Given the description of an element on the screen output the (x, y) to click on. 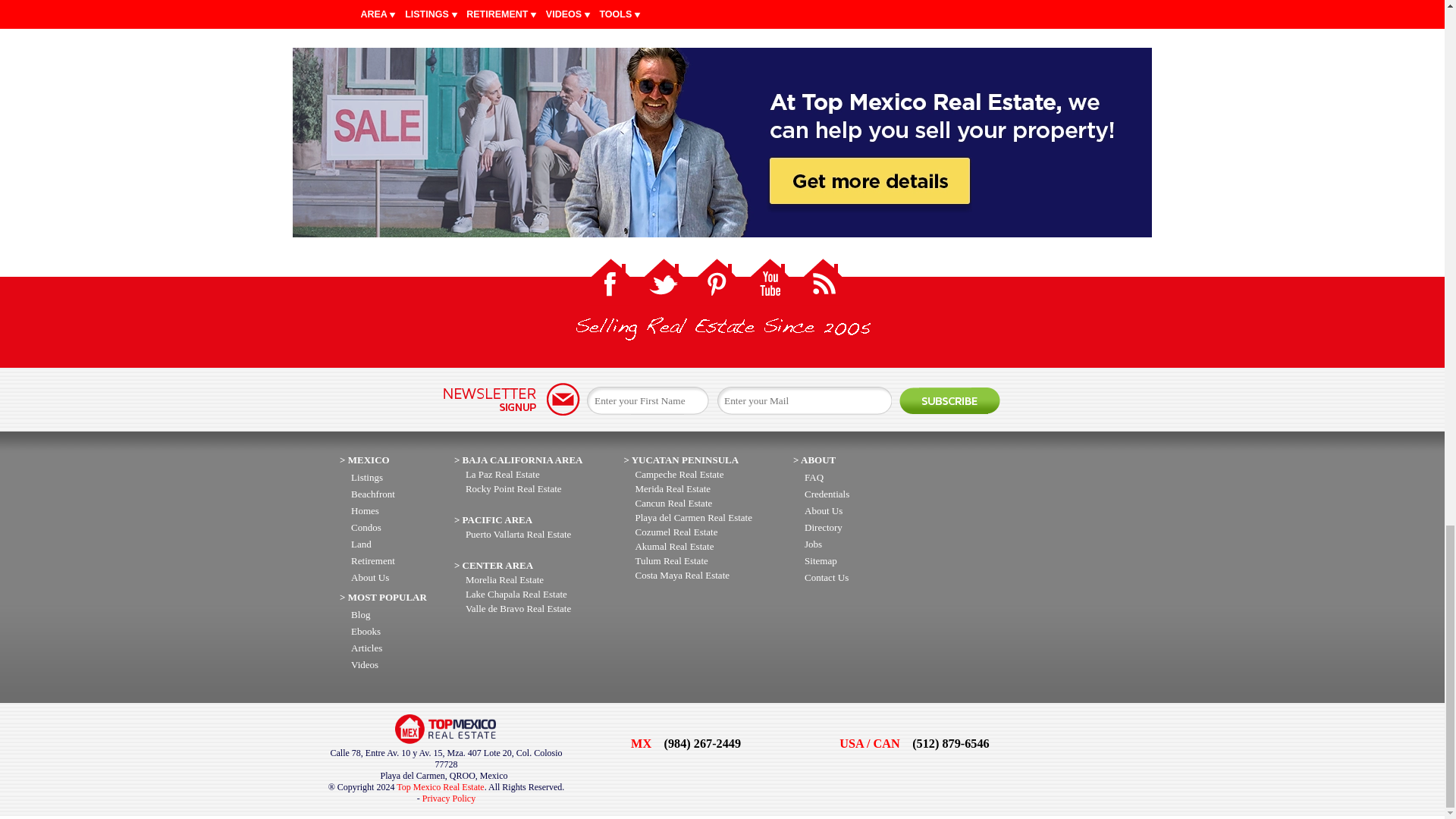
Follow us on Pinterest (715, 280)
Follow us on Facebook (609, 280)
Contact a Mexico Top Broker (364, 664)
Follow us on YouTube (769, 280)
Click to get Top Mexico Real Estate RSS (822, 280)
Mexico Real Estate Blog (359, 614)
About Top Mexico Brokers (365, 631)
Follow us on Twitter (663, 280)
Contact a Mexico Top Broker (365, 647)
